Given the description of an element on the screen output the (x, y) to click on. 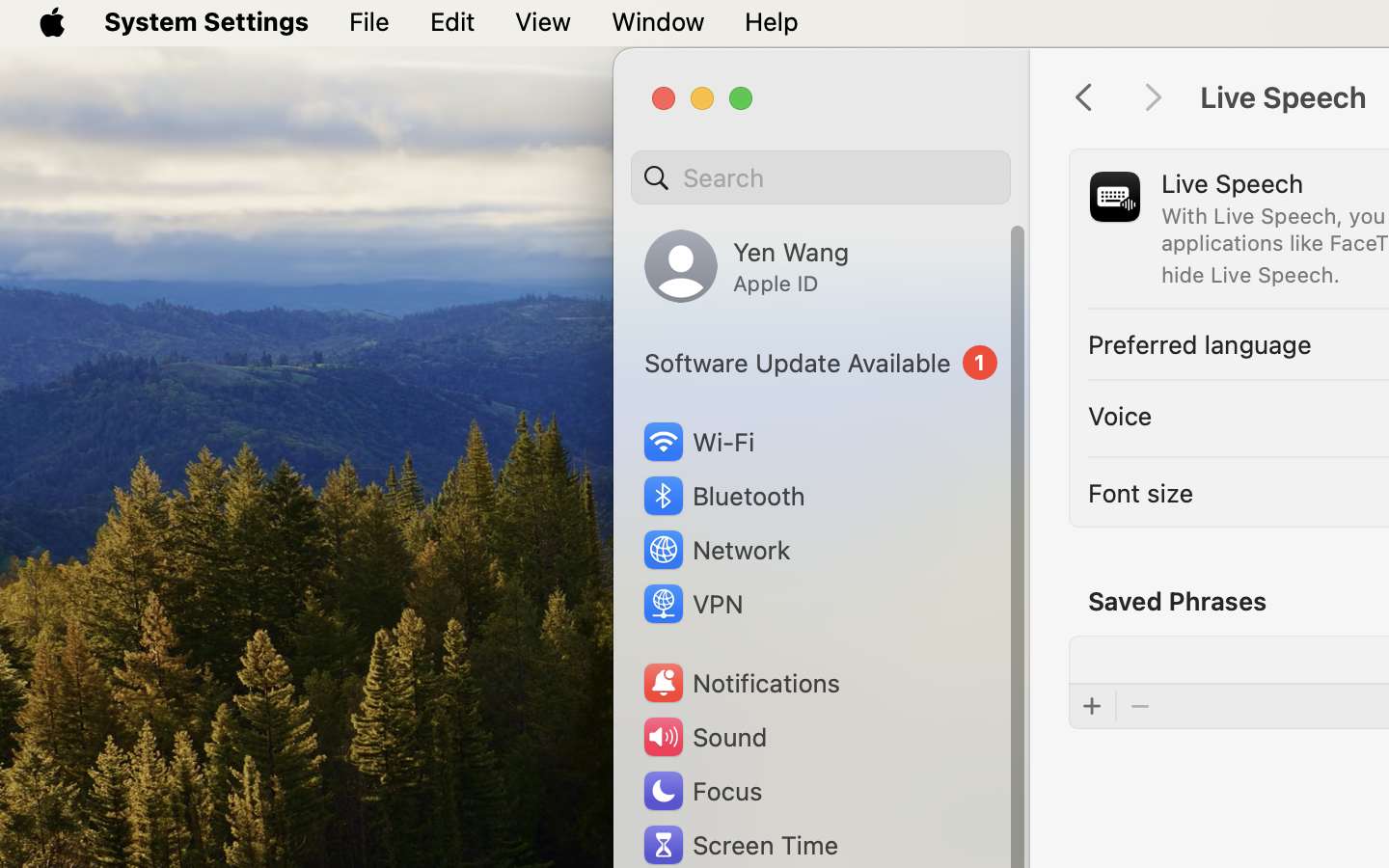
Live Speech Element type: AXStaticText (1232, 182)
Focus Element type: AXStaticText (701, 790)
Yen Wang, Apple ID Element type: AXStaticText (746, 265)
Wi‑Fi Element type: AXStaticText (697, 441)
Voice Element type: AXStaticText (1119, 414)
